Given the description of an element on the screen output the (x, y) to click on. 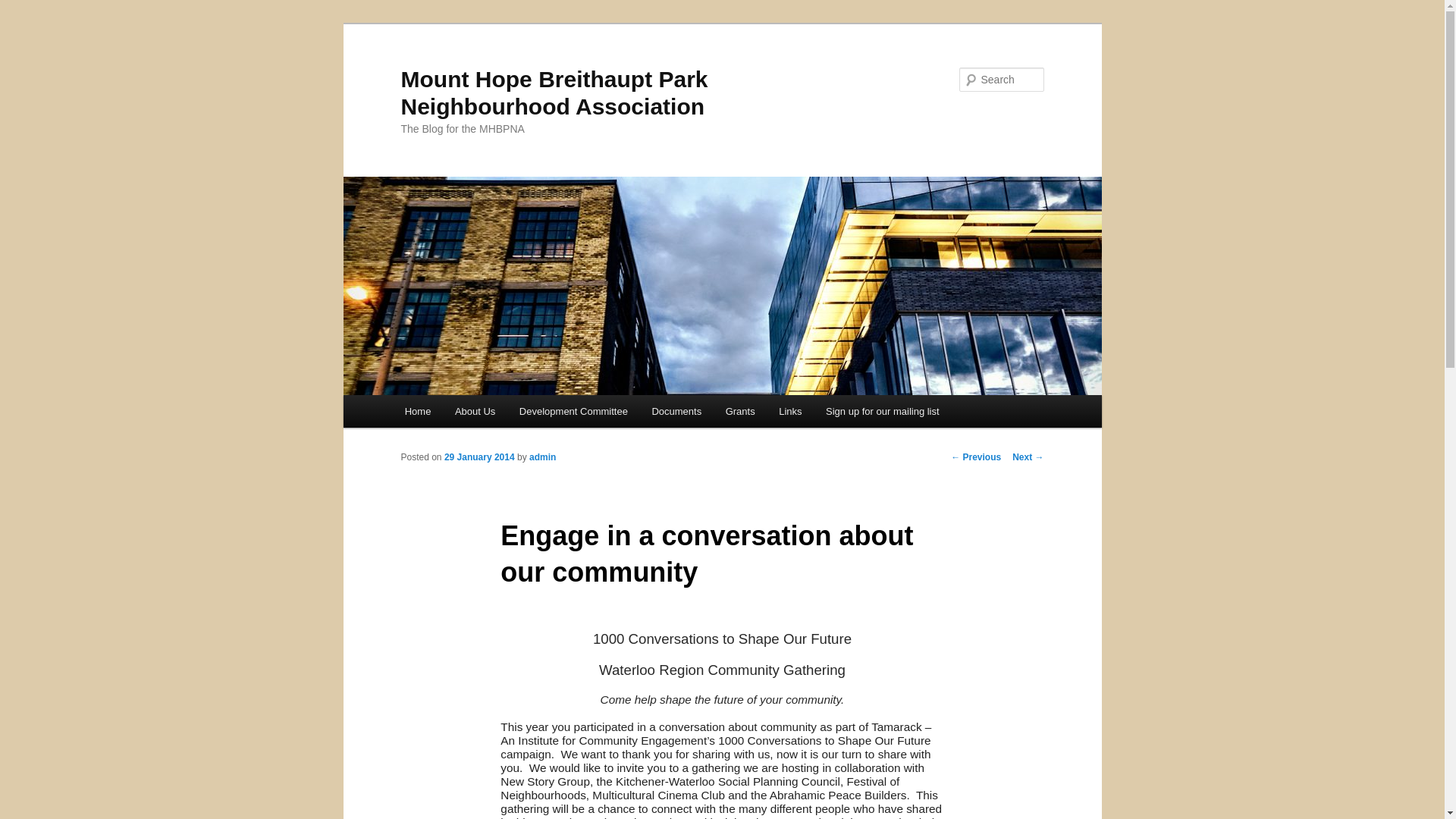
About Us (474, 410)
Development Committee (573, 410)
29 January 2014 (479, 457)
View all posts by admin (542, 457)
6:52 pm (479, 457)
admin (542, 457)
Links (790, 410)
Mount Hope Breithaupt Park Neighbourhood Association (553, 92)
Search (24, 8)
Home (417, 410)
